Given the description of an element on the screen output the (x, y) to click on. 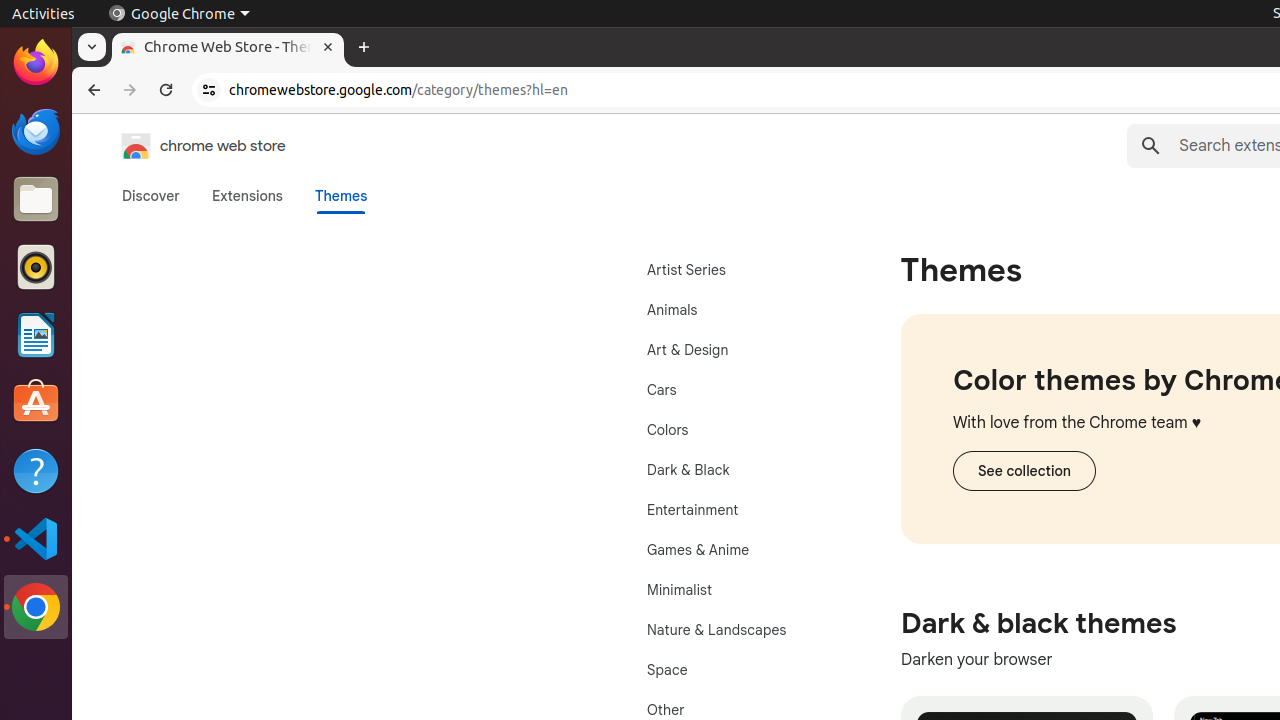
Themes Element type: page-tab (341, 196)
Google Chrome Element type: menu (179, 13)
Google Chrome Element type: push-button (36, 607)
Help Element type: push-button (36, 470)
Files Element type: push-button (36, 199)
